Given the description of an element on the screen output the (x, y) to click on. 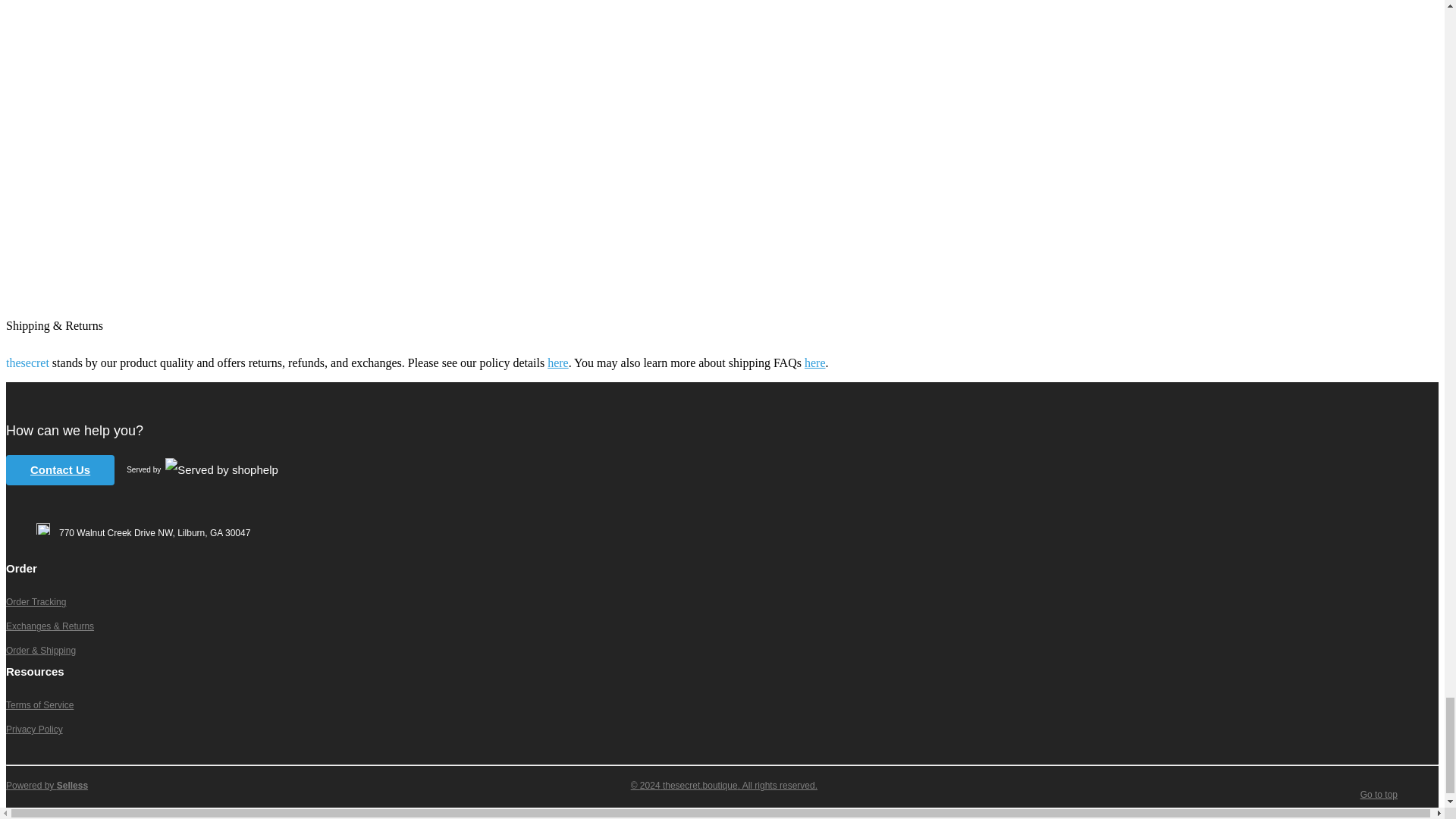
here (558, 362)
here (815, 362)
Contact Us (60, 470)
Order Tracking (35, 602)
